Given the description of an element on the screen output the (x, y) to click on. 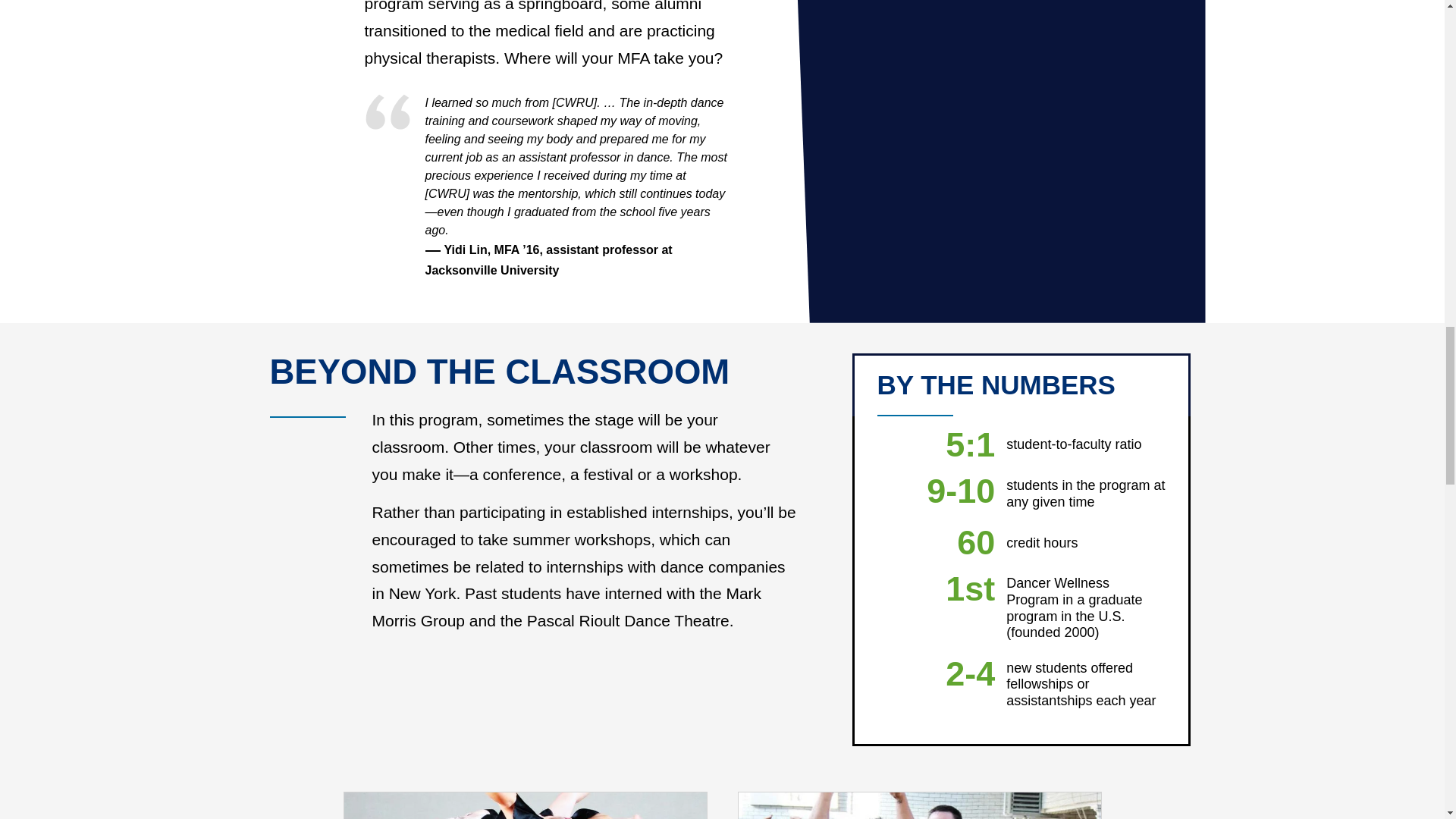
Hear From Our Alumni (524, 805)
See Financial Aid Opportunities (918, 805)
